Given the description of an element on the screen output the (x, y) to click on. 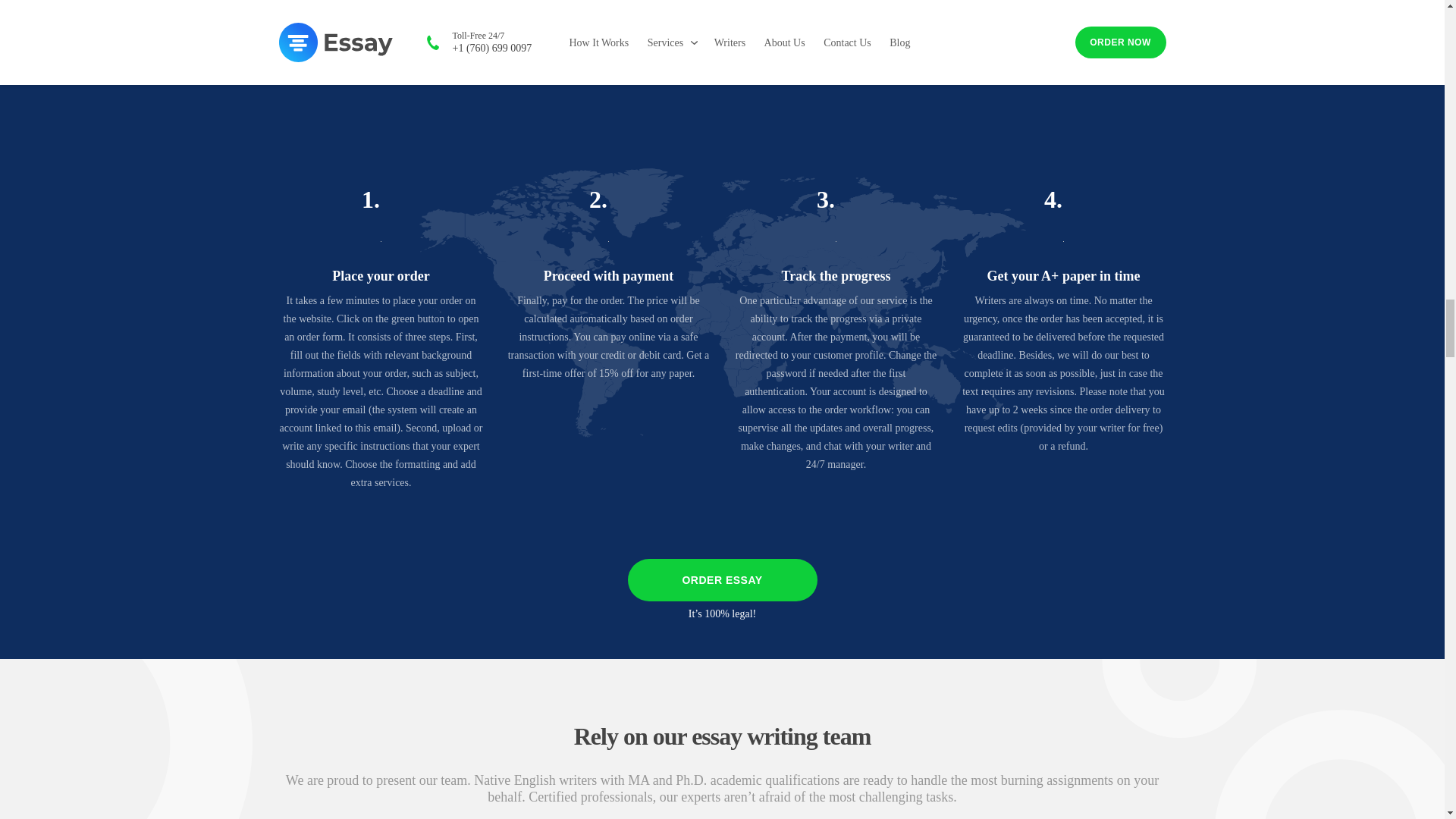
ORDER ESSAY (721, 579)
